Given the description of an element on the screen output the (x, y) to click on. 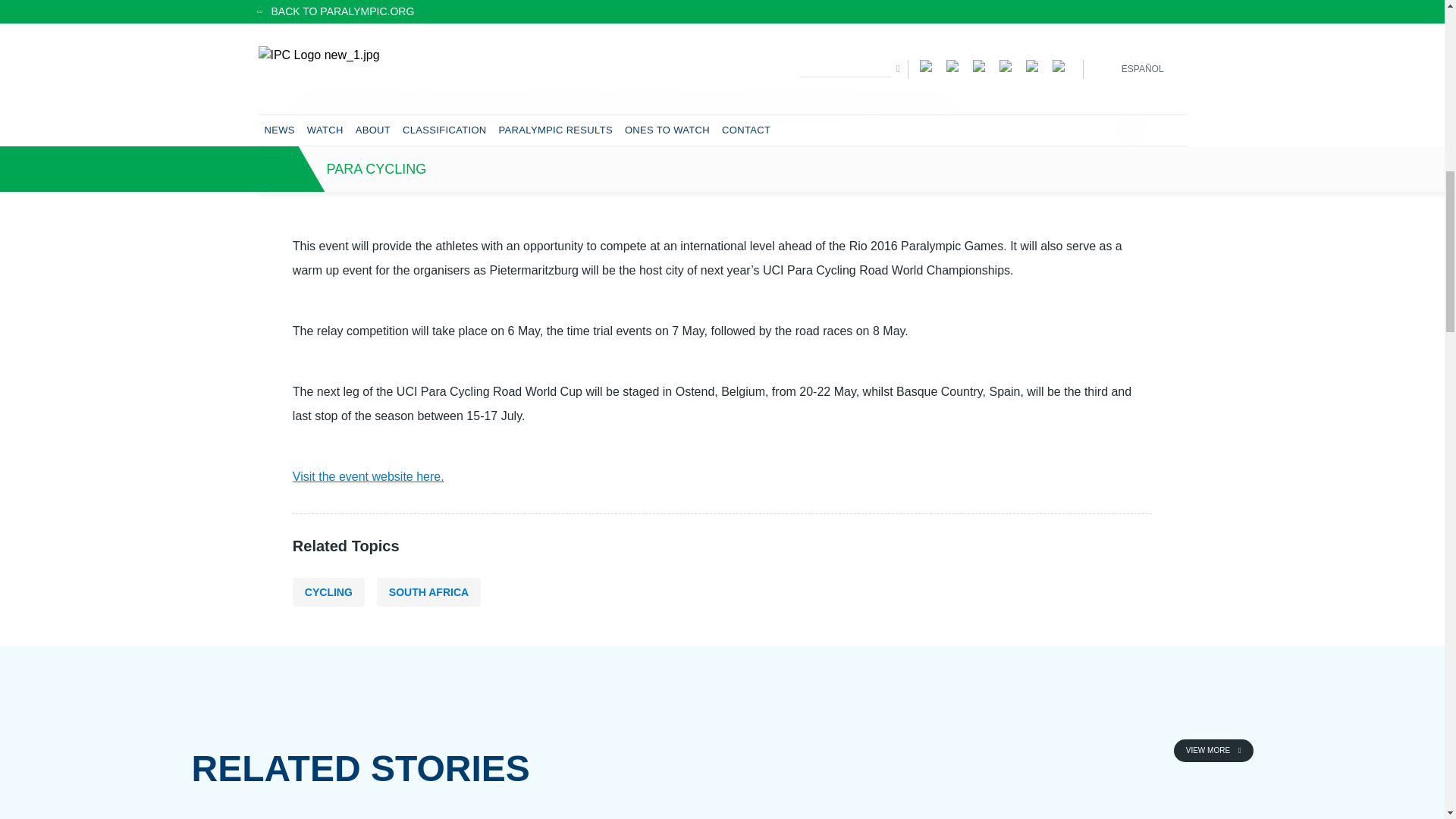
Visit the event website here. (368, 476)
More (1213, 750)
CYCLING (328, 592)
SOUTH AFRICA (428, 592)
Alex Zanardi (721, 32)
VIEW MORE (1213, 750)
